Given the description of an element on the screen output the (x, y) to click on. 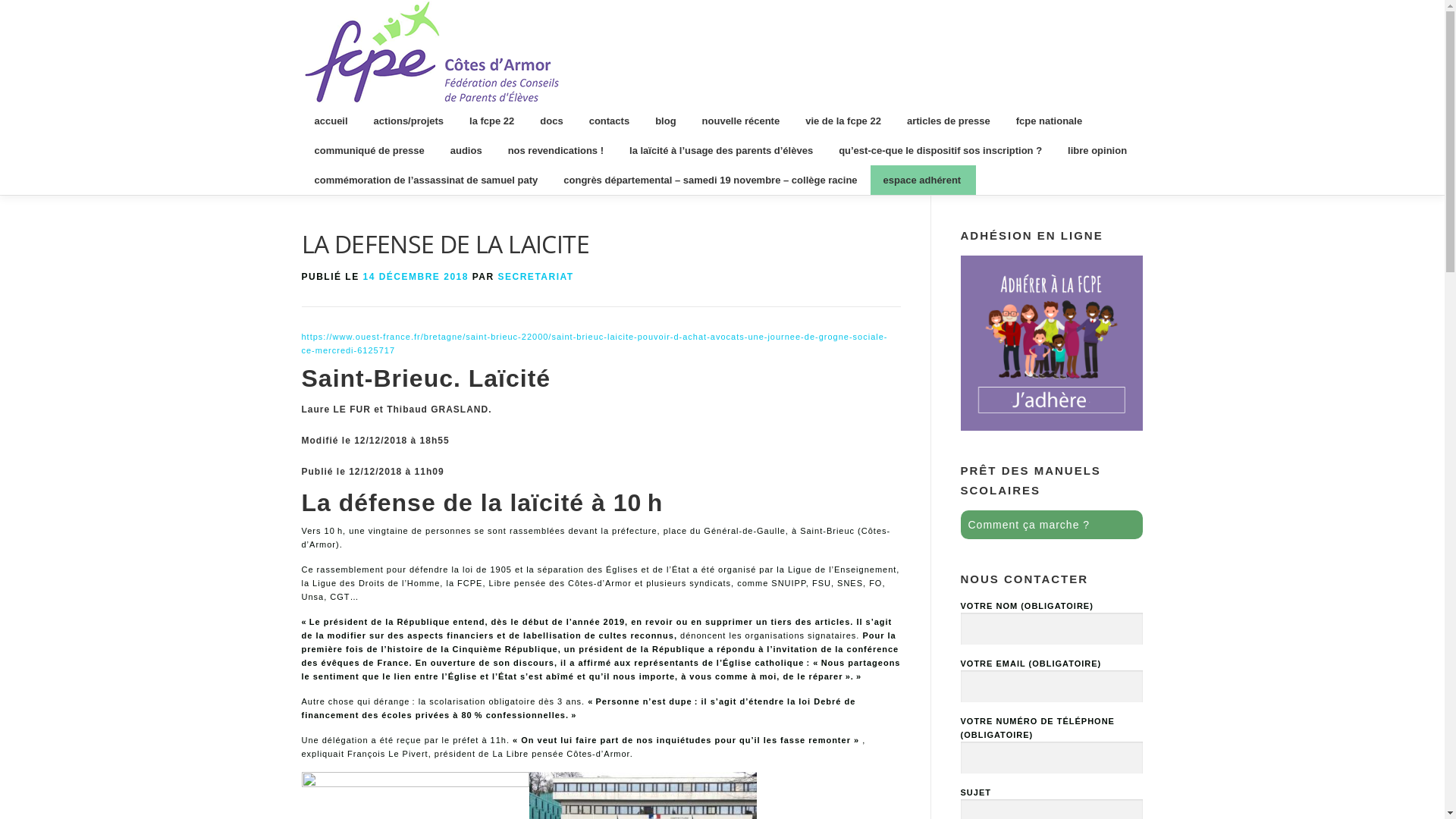
accueil Element type: text (330, 120)
audios Element type: text (466, 150)
contacts Element type: text (609, 120)
vie de la fcpe 22 Element type: text (843, 120)
docs Element type: text (551, 120)
articles de presse Element type: text (948, 120)
actions/projets Element type: text (408, 120)
fcpe nationale Element type: text (1049, 120)
nos revendications ! Element type: text (555, 150)
la fcpe 22 Element type: text (491, 120)
libre opinion Element type: text (1096, 150)
blog Element type: text (665, 120)
SECRETARIAT Element type: text (536, 276)
